Given the description of an element on the screen output the (x, y) to click on. 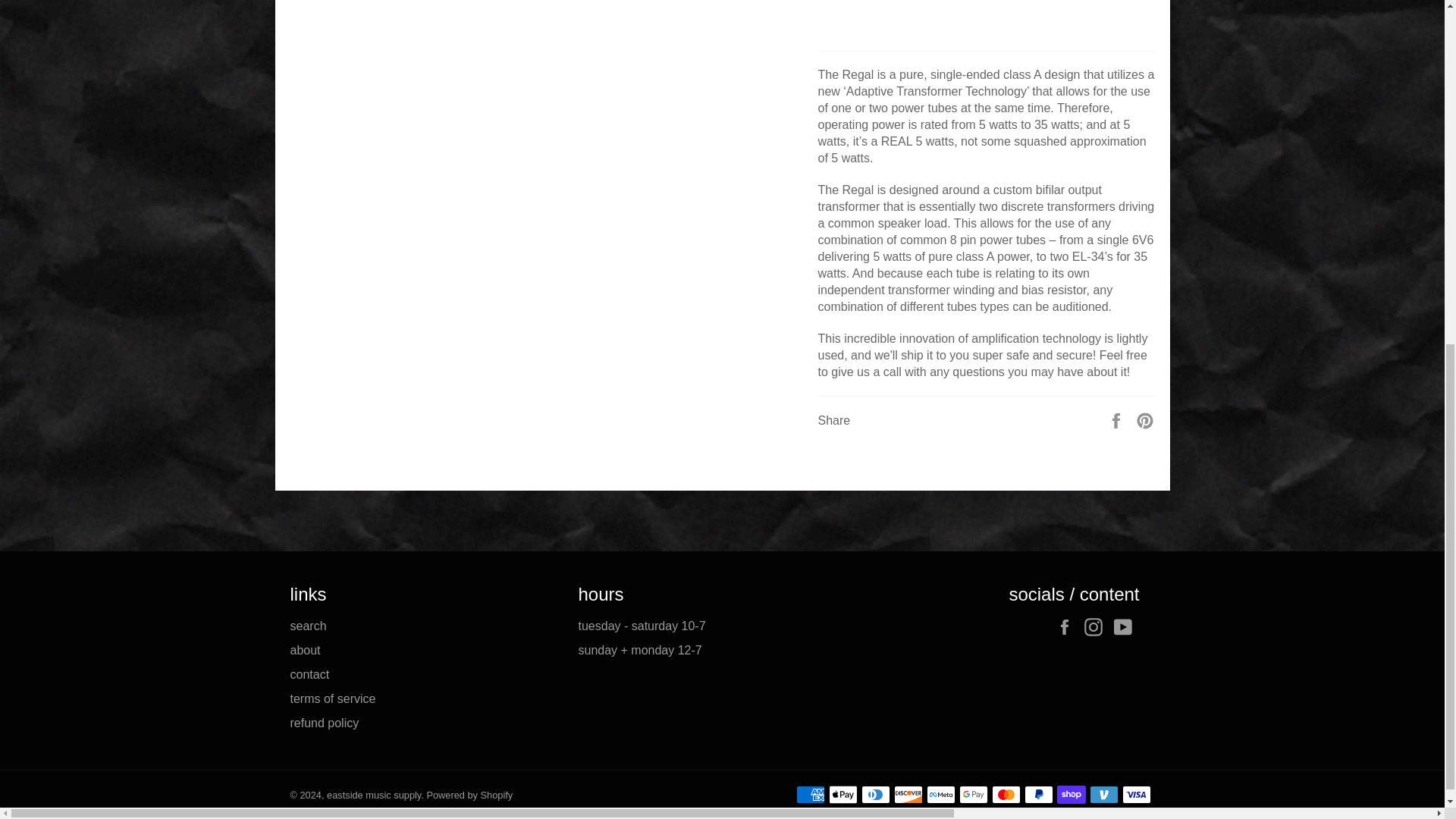
eastside music supply on YouTube (1125, 627)
eastside music supply on Facebook (1068, 627)
eastside music supply on Instagram (1096, 627)
Pin on Pinterest (1144, 419)
Share on Facebook (1117, 419)
